Given the description of an element on the screen output the (x, y) to click on. 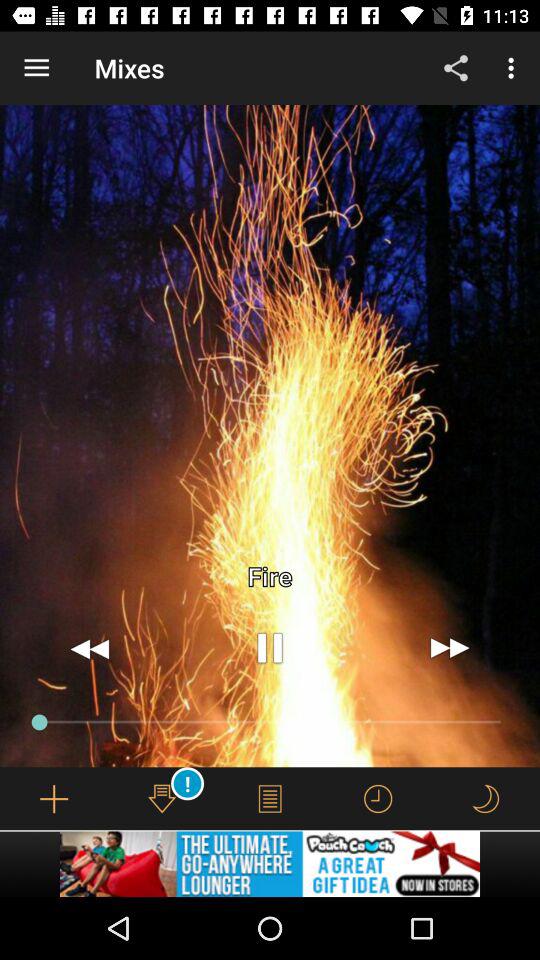
it would fast forward the clip (450, 648)
